Given the description of an element on the screen output the (x, y) to click on. 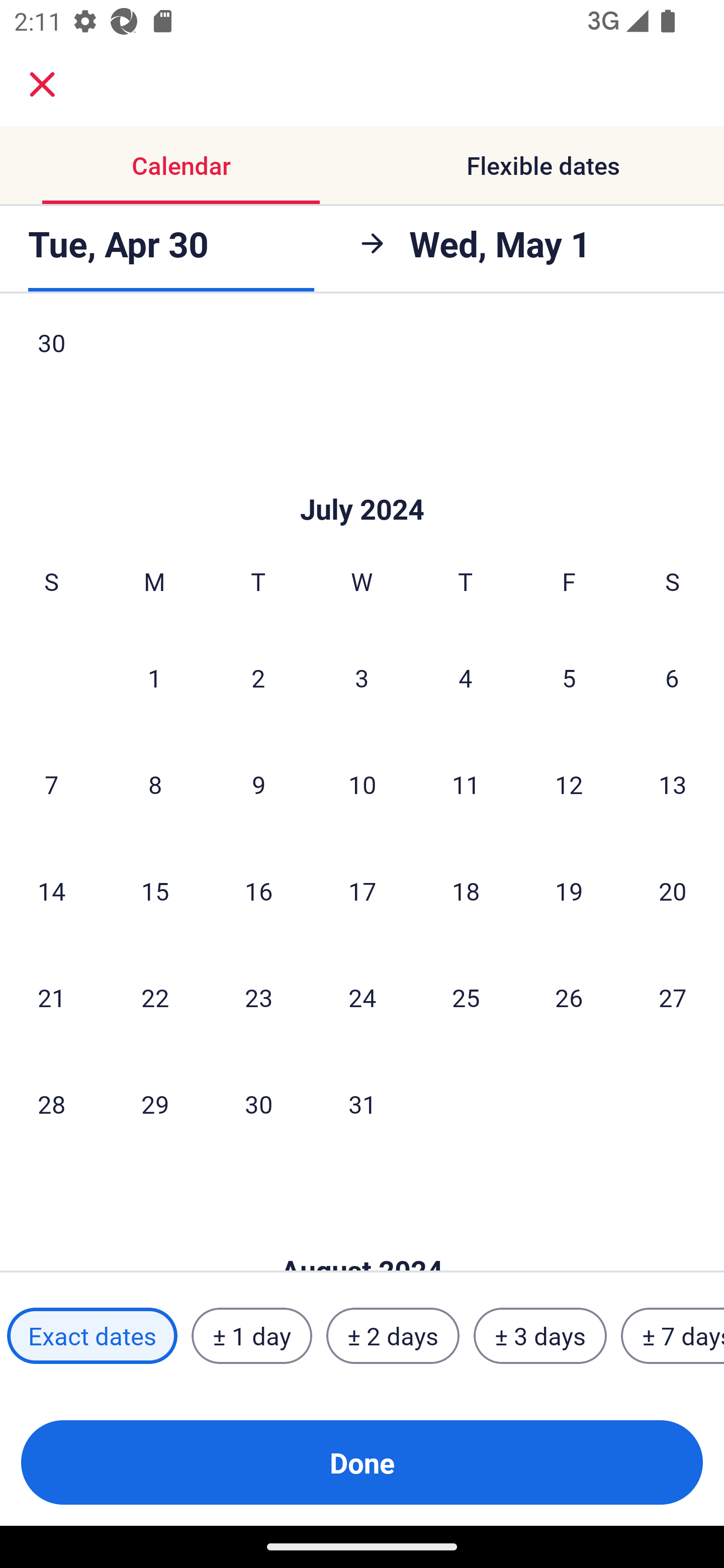
close. (42, 84)
Flexible dates (542, 164)
30 Sunday, June 30, 2024 (51, 357)
Skip to Done (362, 479)
1 Monday, July 1, 2024 (154, 677)
2 Tuesday, July 2, 2024 (257, 677)
3 Wednesday, July 3, 2024 (361, 677)
4 Thursday, July 4, 2024 (465, 677)
5 Friday, July 5, 2024 (568, 677)
6 Saturday, July 6, 2024 (672, 677)
7 Sunday, July 7, 2024 (51, 783)
8 Monday, July 8, 2024 (155, 783)
9 Tuesday, July 9, 2024 (258, 783)
10 Wednesday, July 10, 2024 (362, 783)
11 Thursday, July 11, 2024 (465, 783)
12 Friday, July 12, 2024 (569, 783)
13 Saturday, July 13, 2024 (672, 783)
14 Sunday, July 14, 2024 (51, 890)
15 Monday, July 15, 2024 (155, 890)
16 Tuesday, July 16, 2024 (258, 890)
17 Wednesday, July 17, 2024 (362, 890)
18 Thursday, July 18, 2024 (465, 890)
19 Friday, July 19, 2024 (569, 890)
20 Saturday, July 20, 2024 (672, 890)
21 Sunday, July 21, 2024 (51, 996)
22 Monday, July 22, 2024 (155, 996)
23 Tuesday, July 23, 2024 (258, 996)
24 Wednesday, July 24, 2024 (362, 996)
25 Thursday, July 25, 2024 (465, 996)
26 Friday, July 26, 2024 (569, 996)
27 Saturday, July 27, 2024 (672, 996)
28 Sunday, July 28, 2024 (51, 1103)
29 Monday, July 29, 2024 (155, 1103)
30 Tuesday, July 30, 2024 (258, 1103)
31 Wednesday, July 31, 2024 (362, 1103)
Exact dates (92, 1335)
± 1 day (251, 1335)
± 2 days (392, 1335)
± 3 days (539, 1335)
± 7 days (672, 1335)
Done (361, 1462)
